Given the description of an element on the screen output the (x, y) to click on. 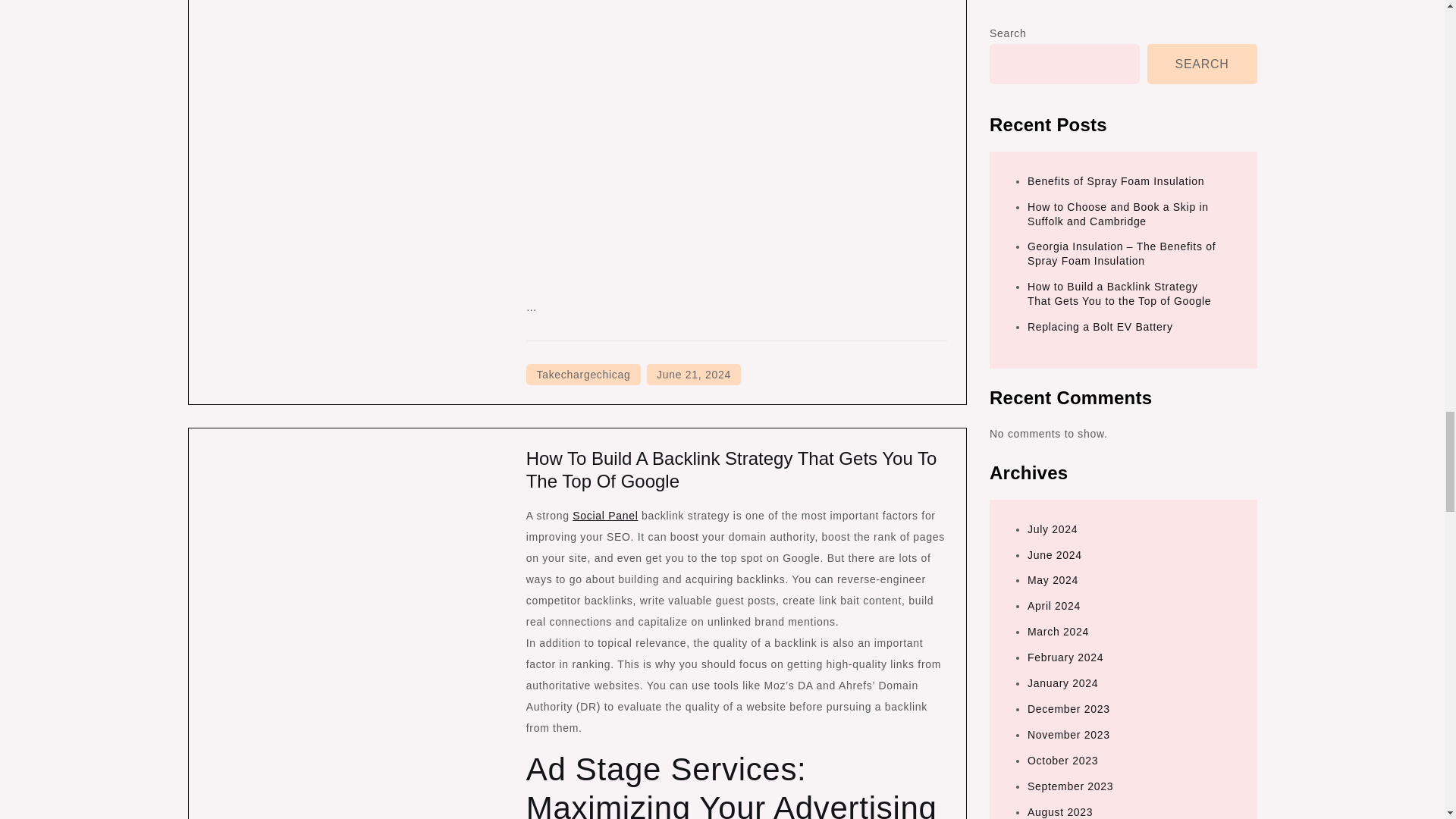
June 21, 2024 (693, 373)
Takechargechicag (582, 373)
Social Panel (604, 515)
